Given the description of an element on the screen output the (x, y) to click on. 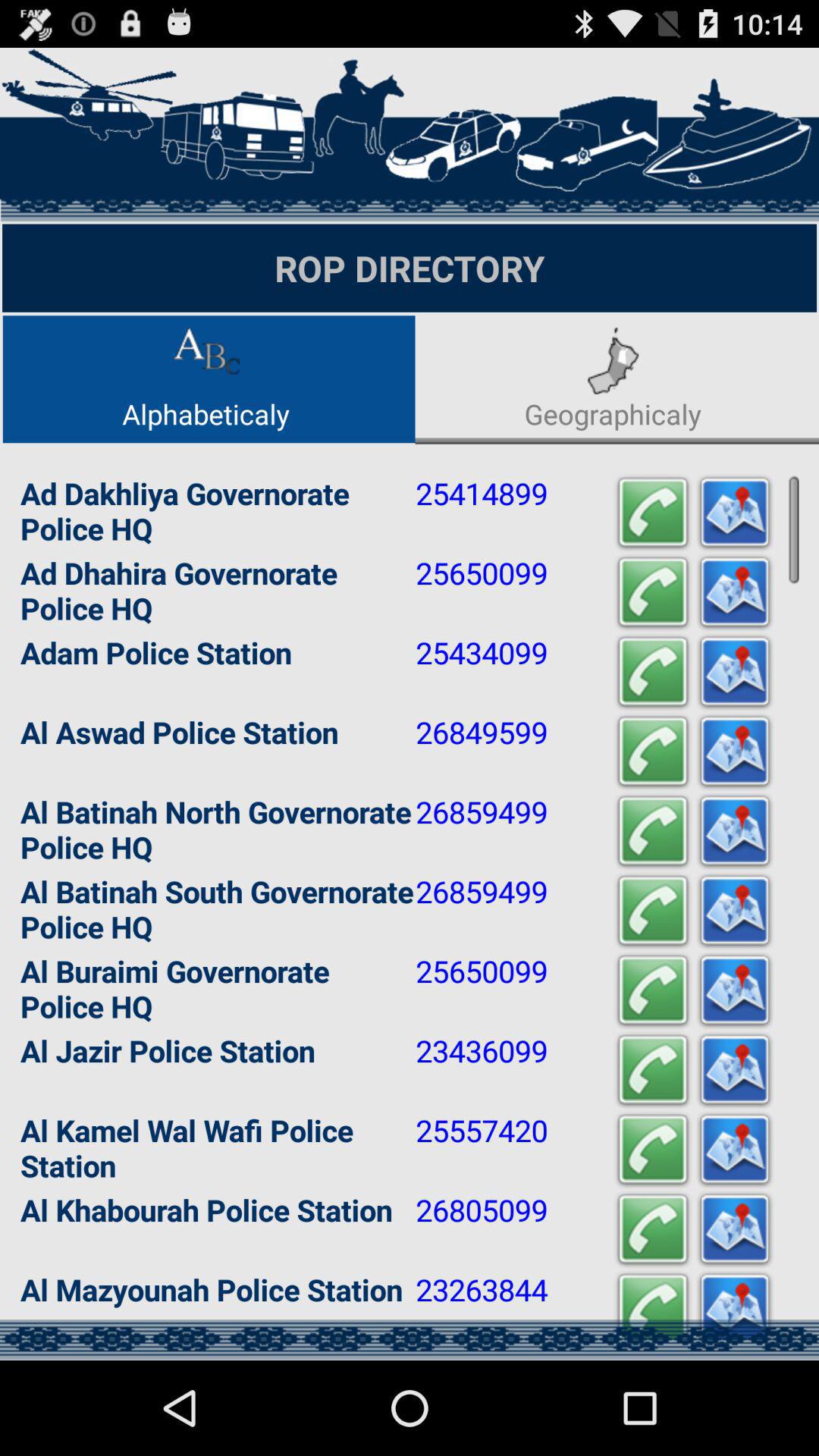
show map of al kamel wal wafi police station (734, 1149)
